Given the description of an element on the screen output the (x, y) to click on. 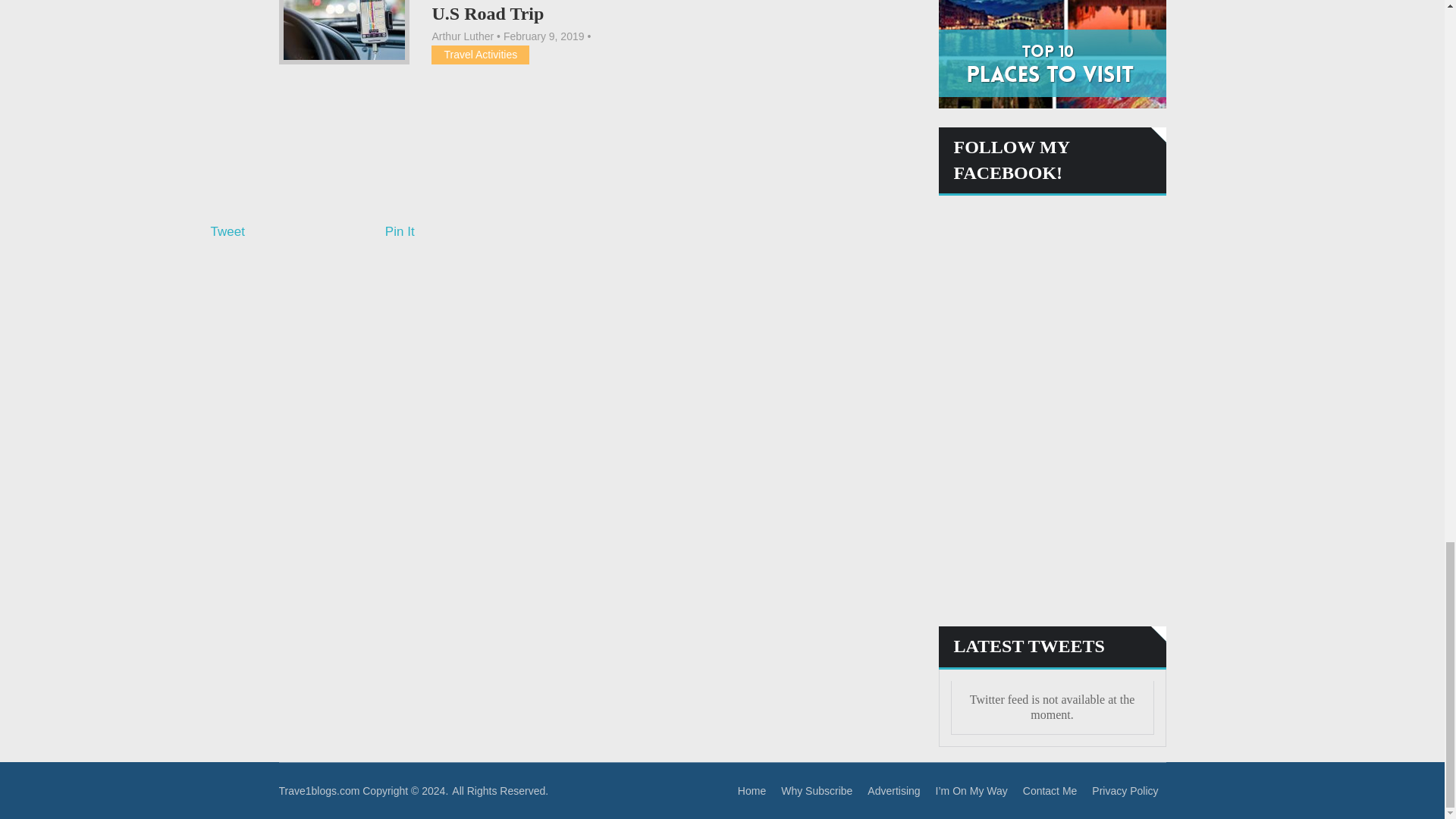
Travel Blog (319, 790)
How To Plan The Perfect U.S Road Trip (344, 32)
View all posts in Travel Activities (480, 54)
How To Plan The Perfect U.S Road Trip (528, 11)
Posts by Arthur Luther (461, 36)
